Given the description of an element on the screen output the (x, y) to click on. 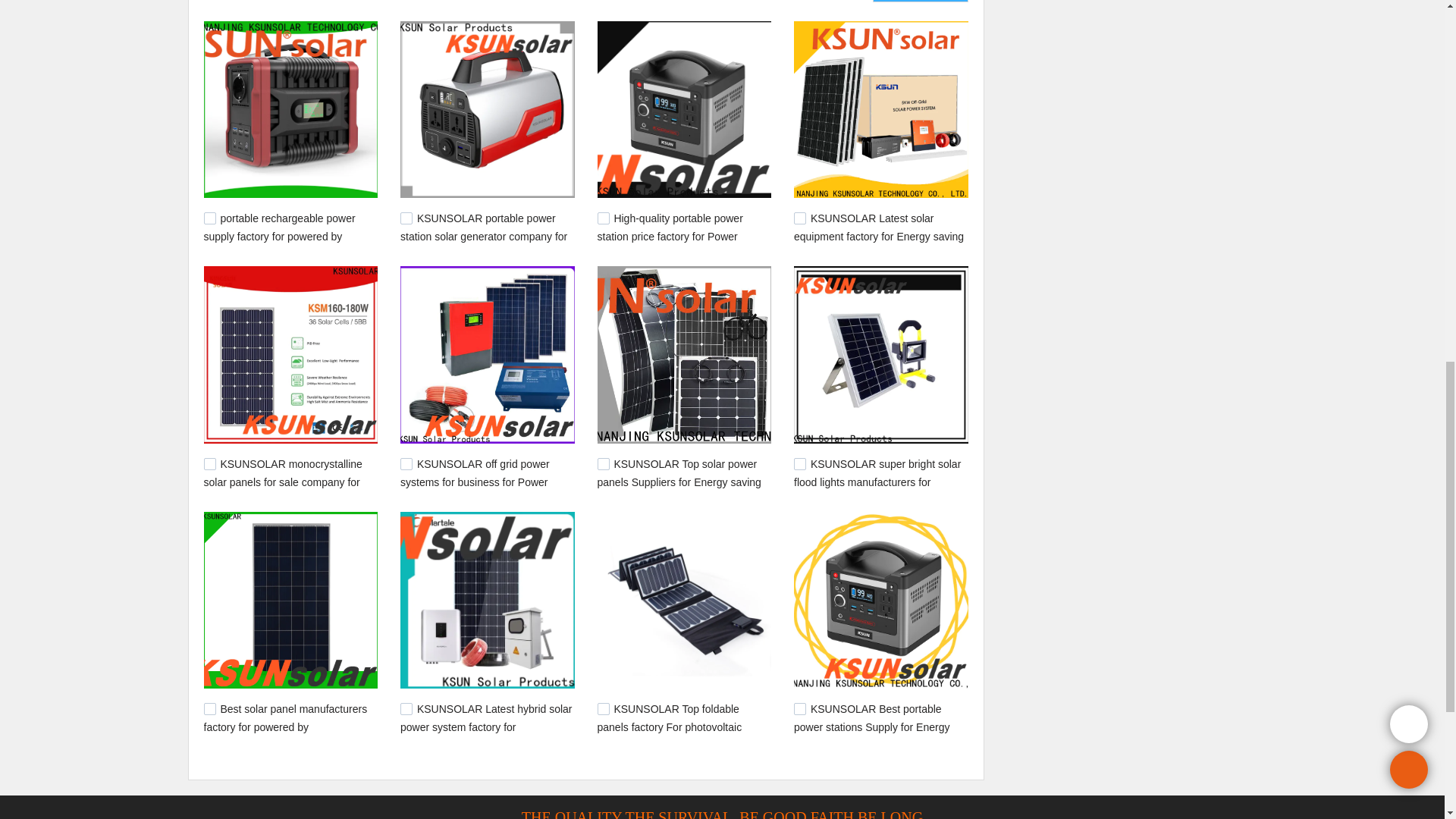
3574 (603, 463)
3681 (406, 218)
3476 (603, 708)
Best solar panel manufacturers factory for powered by (284, 717)
3468 (799, 708)
3503 (209, 708)
3579 (406, 463)
KSUNSOLAR Latest solar equipment factory for Energy saving (878, 227)
3709 (209, 218)
